Given the description of an element on the screen output the (x, y) to click on. 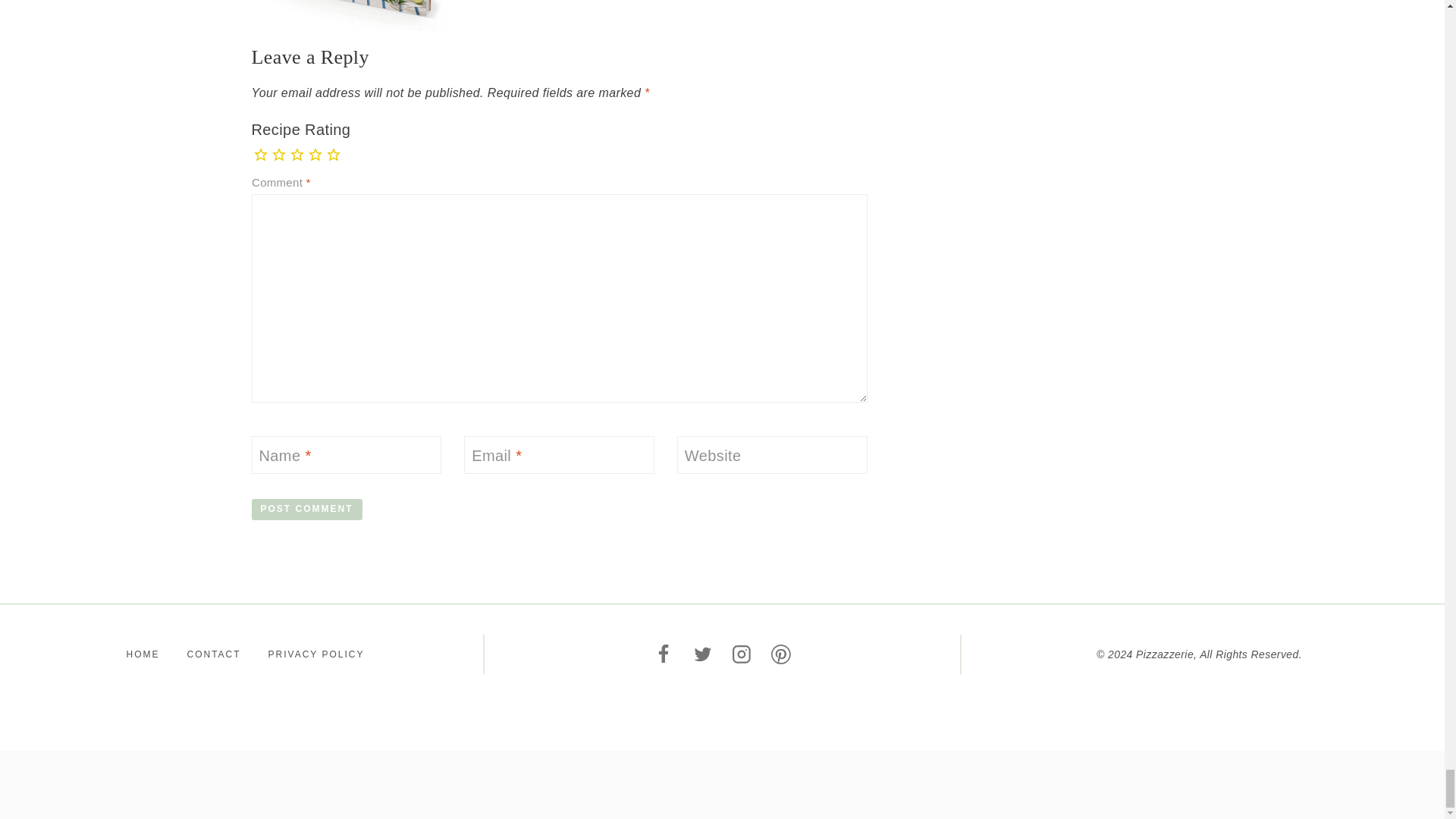
Post Comment (306, 509)
